Given the description of an element on the screen output the (x, y) to click on. 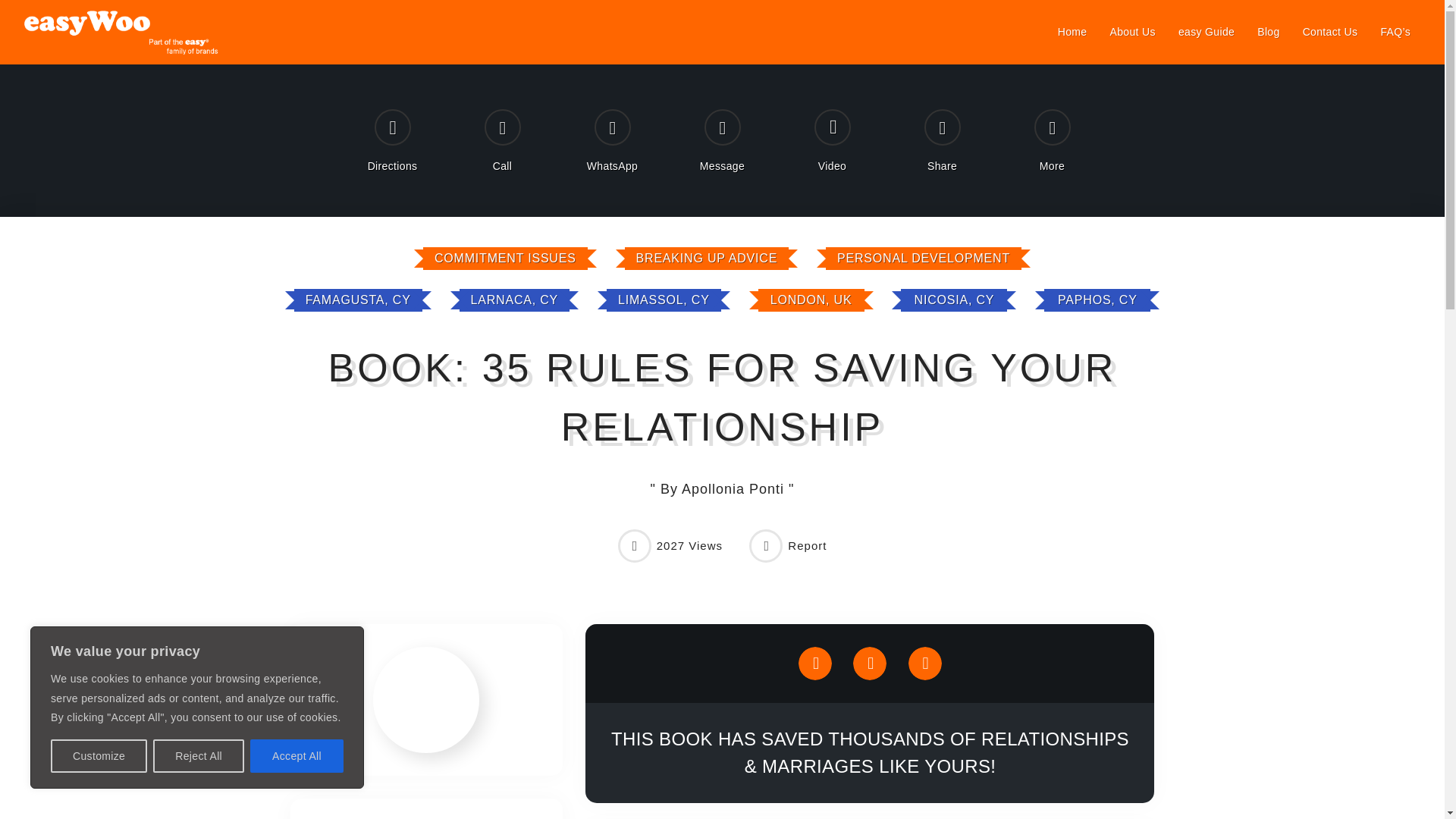
Contact Us (1330, 31)
Reject All (198, 756)
Accept All (296, 756)
Toggle sidebar position (327, 664)
About Us (1131, 31)
easy Guide (1206, 31)
Home (1072, 31)
Customize (98, 756)
Blog (1268, 31)
